Given the description of an element on the screen output the (x, y) to click on. 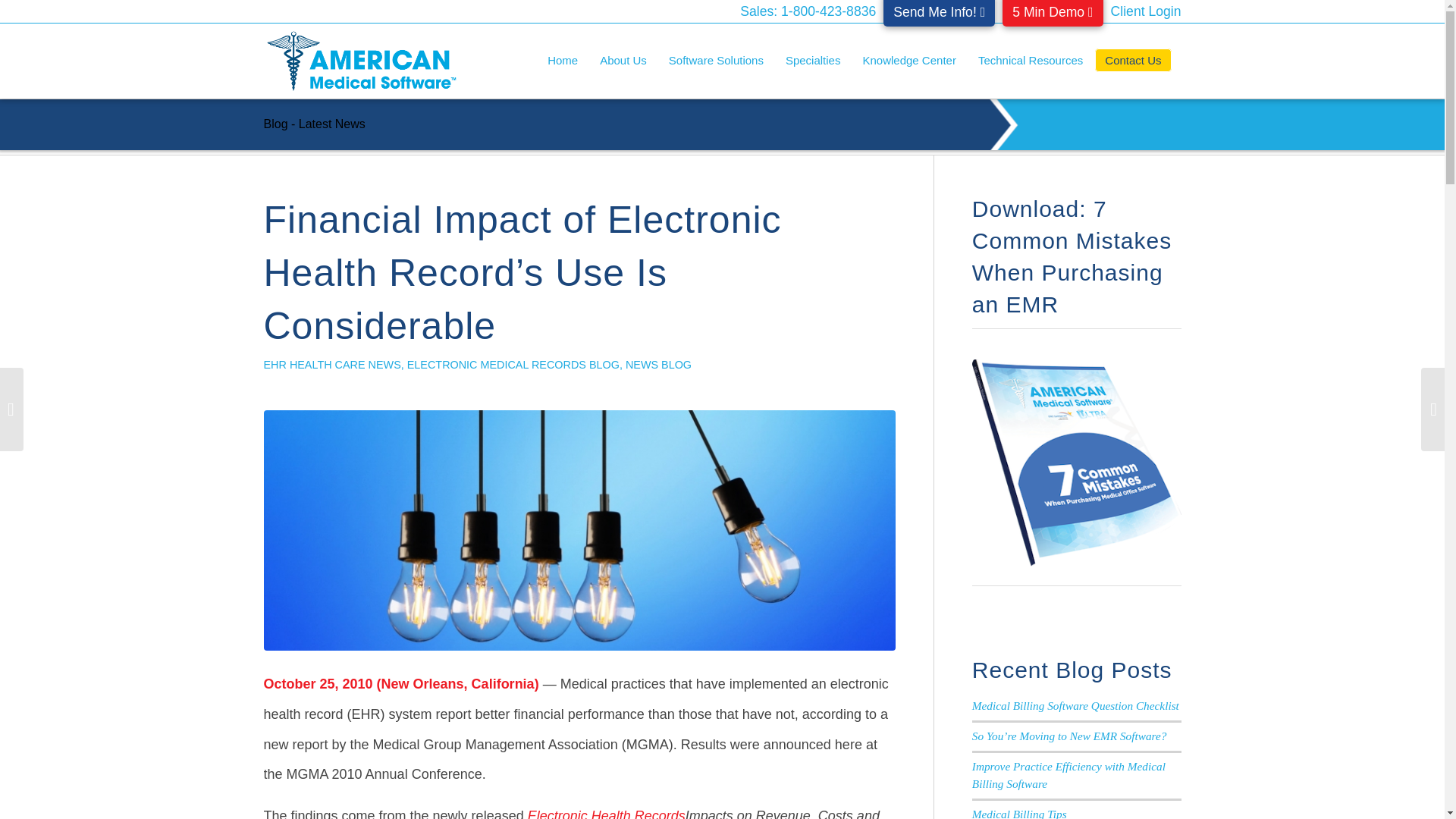
Software Solutions (721, 60)
About Us (627, 60)
Specialties (818, 60)
Client Login (1145, 11)
Permanent Link: Blog - Latest News (314, 123)
Home (561, 60)
Send Me Info! (938, 13)
5 Min Demo (1052, 13)
Technical Resources (1035, 60)
Knowledge Center (913, 60)
Sales: 1-800-423-8836 (807, 11)
